Given the description of an element on the screen output the (x, y) to click on. 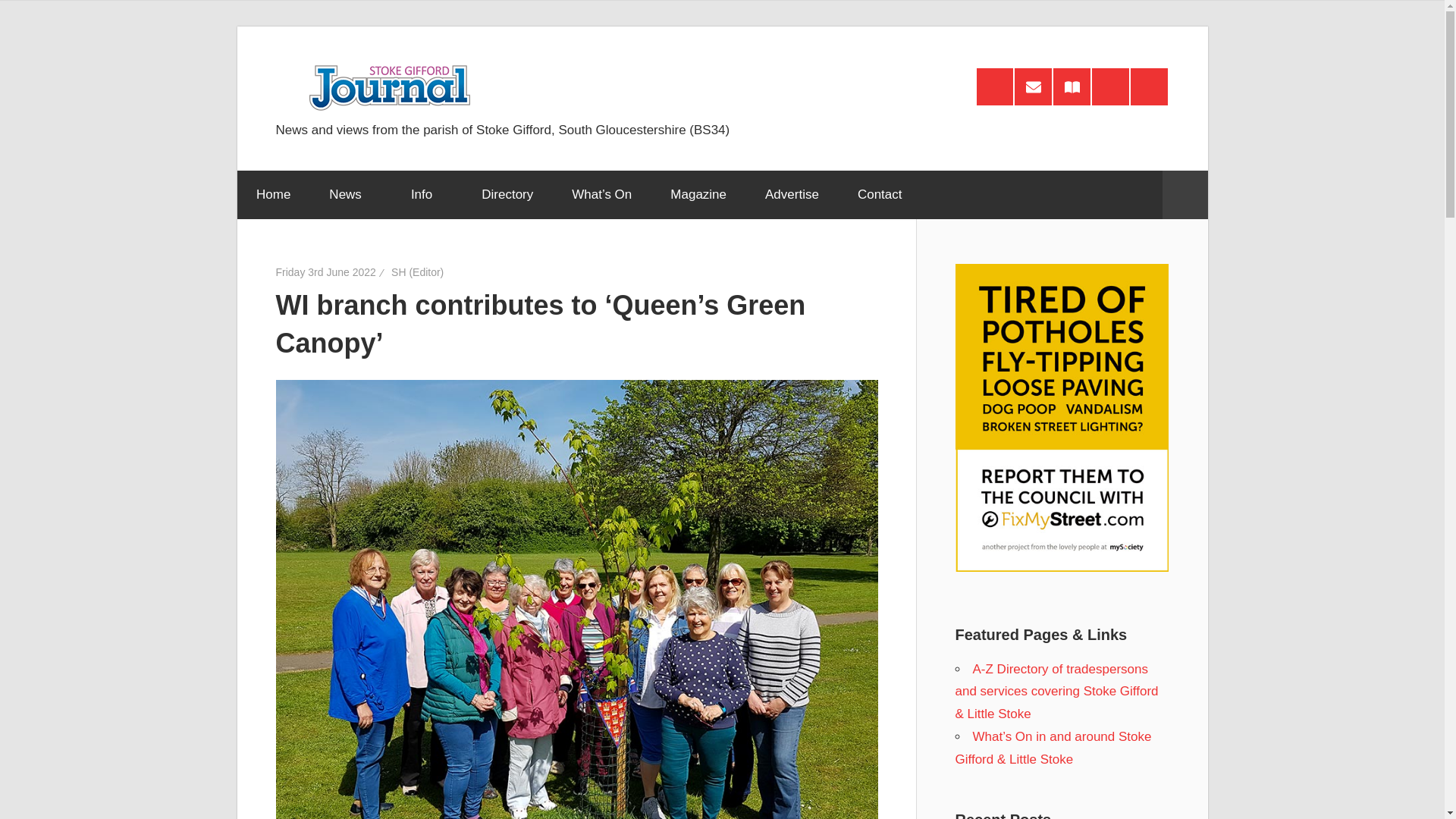
Stoke Gifford Journal on Facebook (1110, 86)
Feed (994, 86)
Read the Stoke Gifford Journal magazine online (1071, 86)
Info (426, 194)
Twitter (1149, 86)
Stoke Gifford Journal on Twitter (1149, 86)
Home (271, 194)
Get the Stoke Gifford Journal delivered by email (1032, 86)
